Given the description of an element on the screen output the (x, y) to click on. 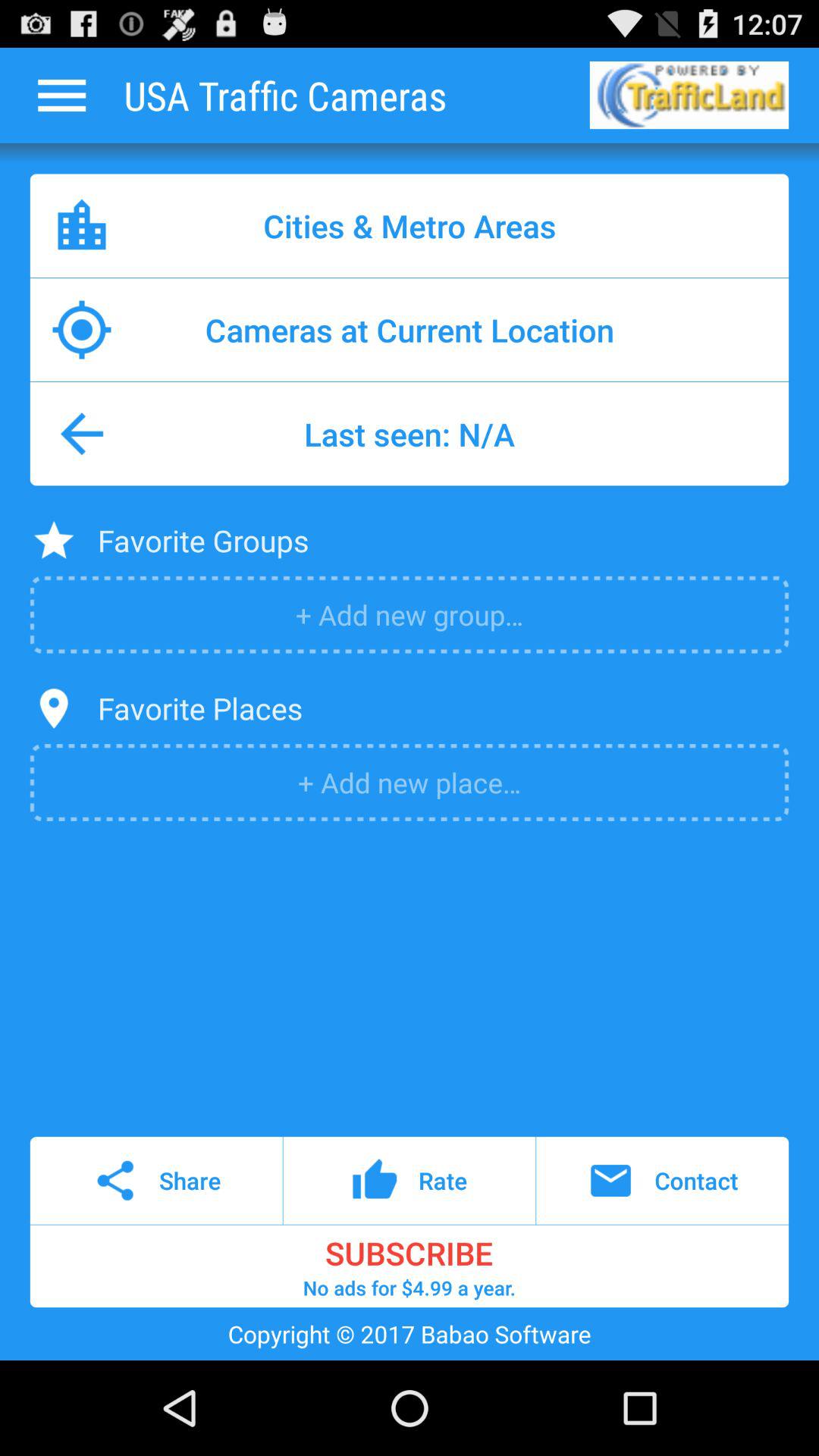
scroll until cities & metro areas app (409, 225)
